Given the description of an element on the screen output the (x, y) to click on. 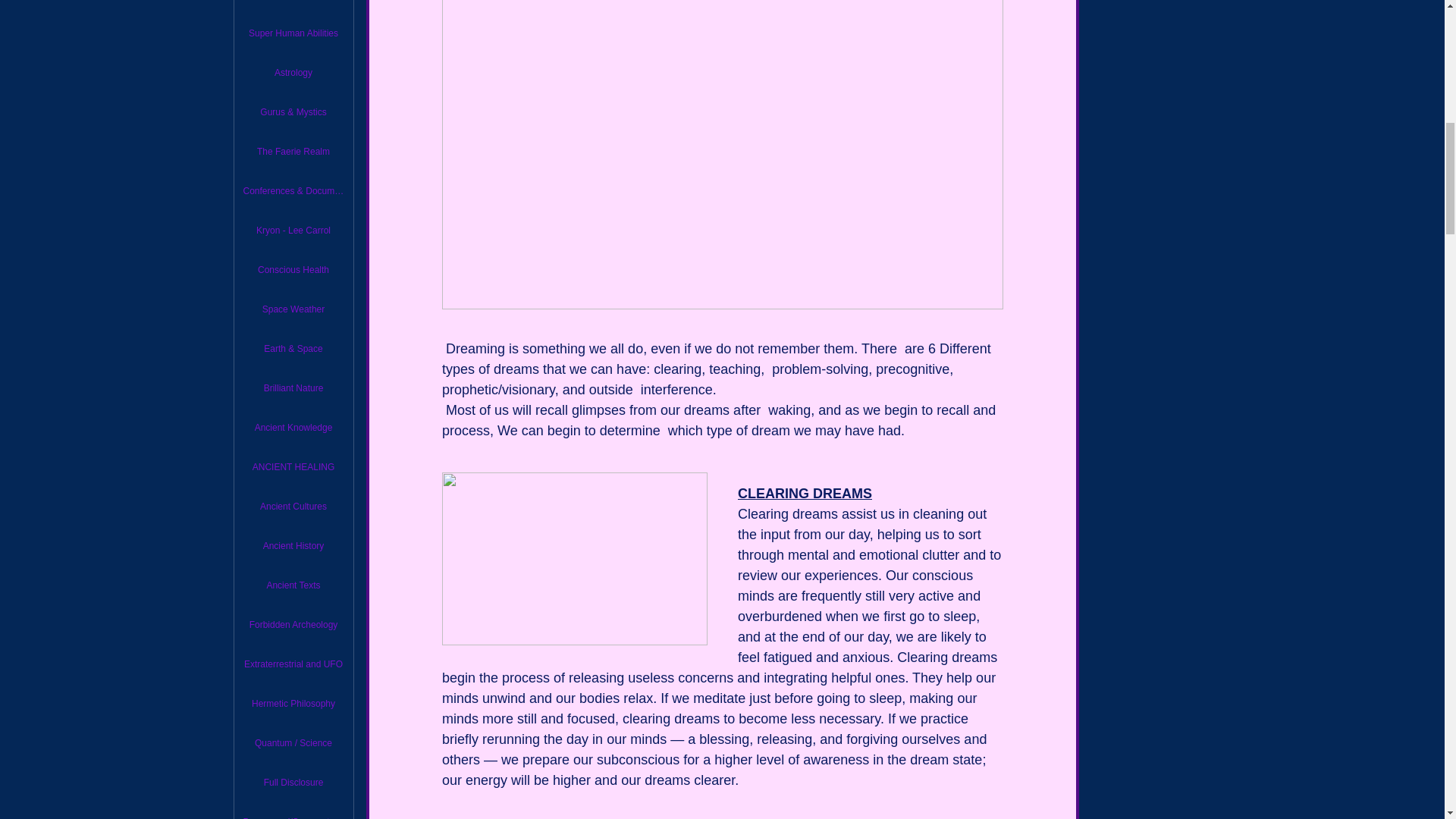
ANCIENT HEALING (292, 467)
Ancient Knowledge (292, 427)
Brilliant Nature (292, 388)
Ancient History (292, 545)
The Faerie Realm (292, 151)
Ancient Cultures (292, 506)
Astrology (292, 72)
Kryon - Lee Carrol (292, 230)
Ancient Texts (292, 585)
Space Weather (292, 309)
Conscious Health (292, 269)
Super Human Abilities (292, 33)
Forbidden Archeology (292, 624)
Meditation Tools (292, 4)
